Given the description of an element on the screen output the (x, y) to click on. 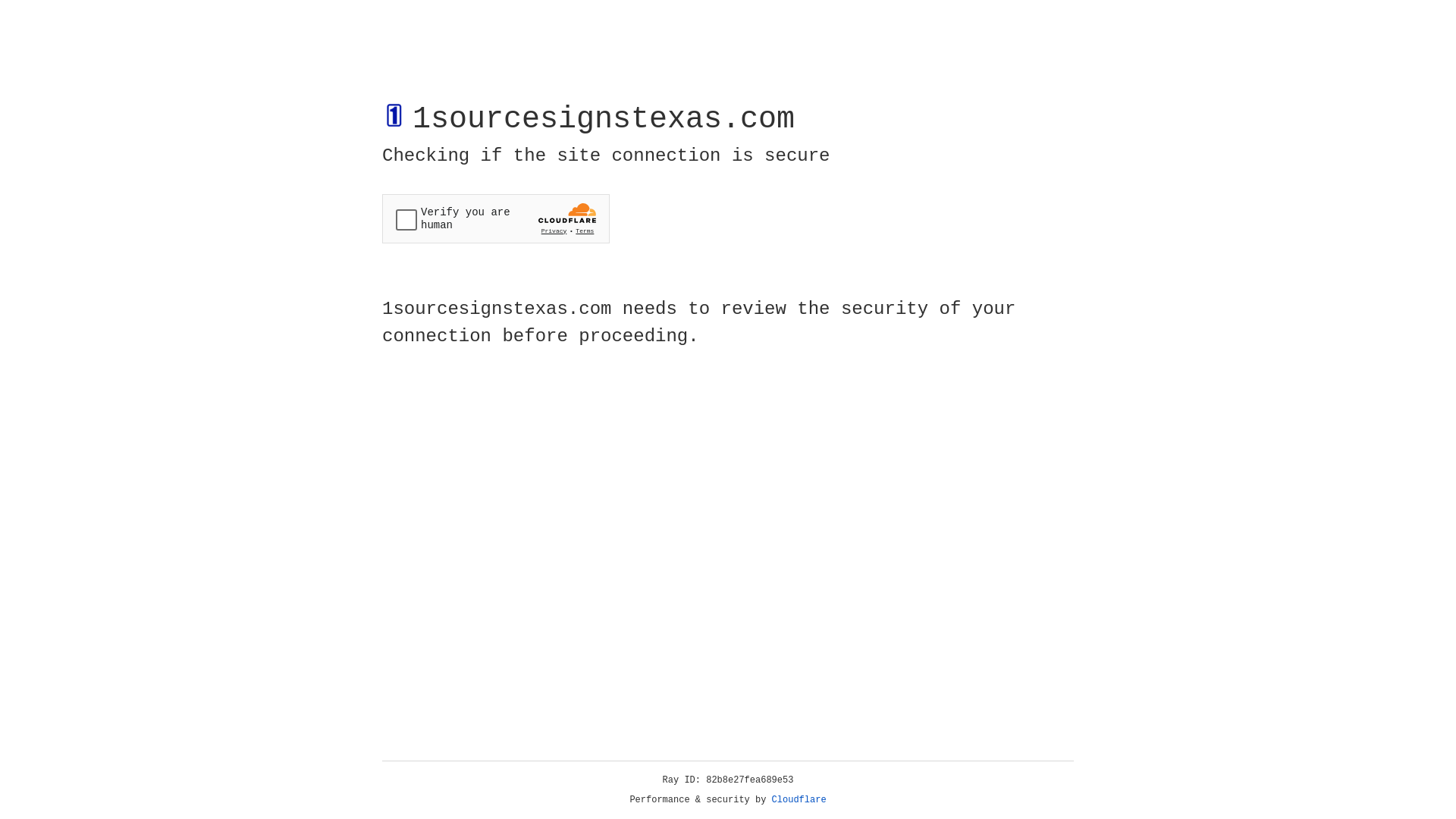
Widget containing a Cloudflare security challenge Element type: hover (495, 218)
Cloudflare Element type: text (798, 799)
